Given the description of an element on the screen output the (x, y) to click on. 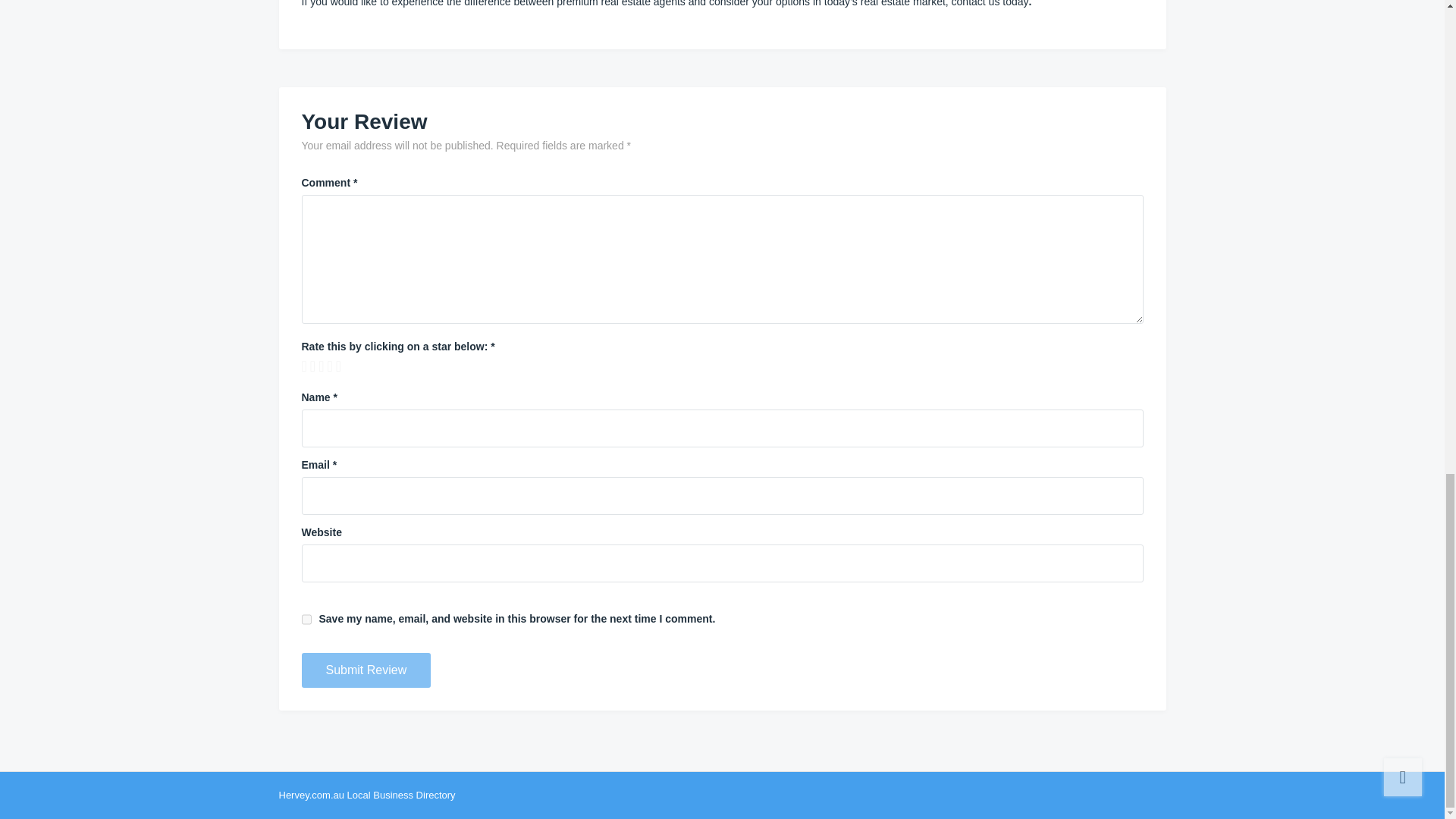
Submit Review (365, 669)
yes (306, 619)
Submit Review (365, 669)
